Given the description of an element on the screen output the (x, y) to click on. 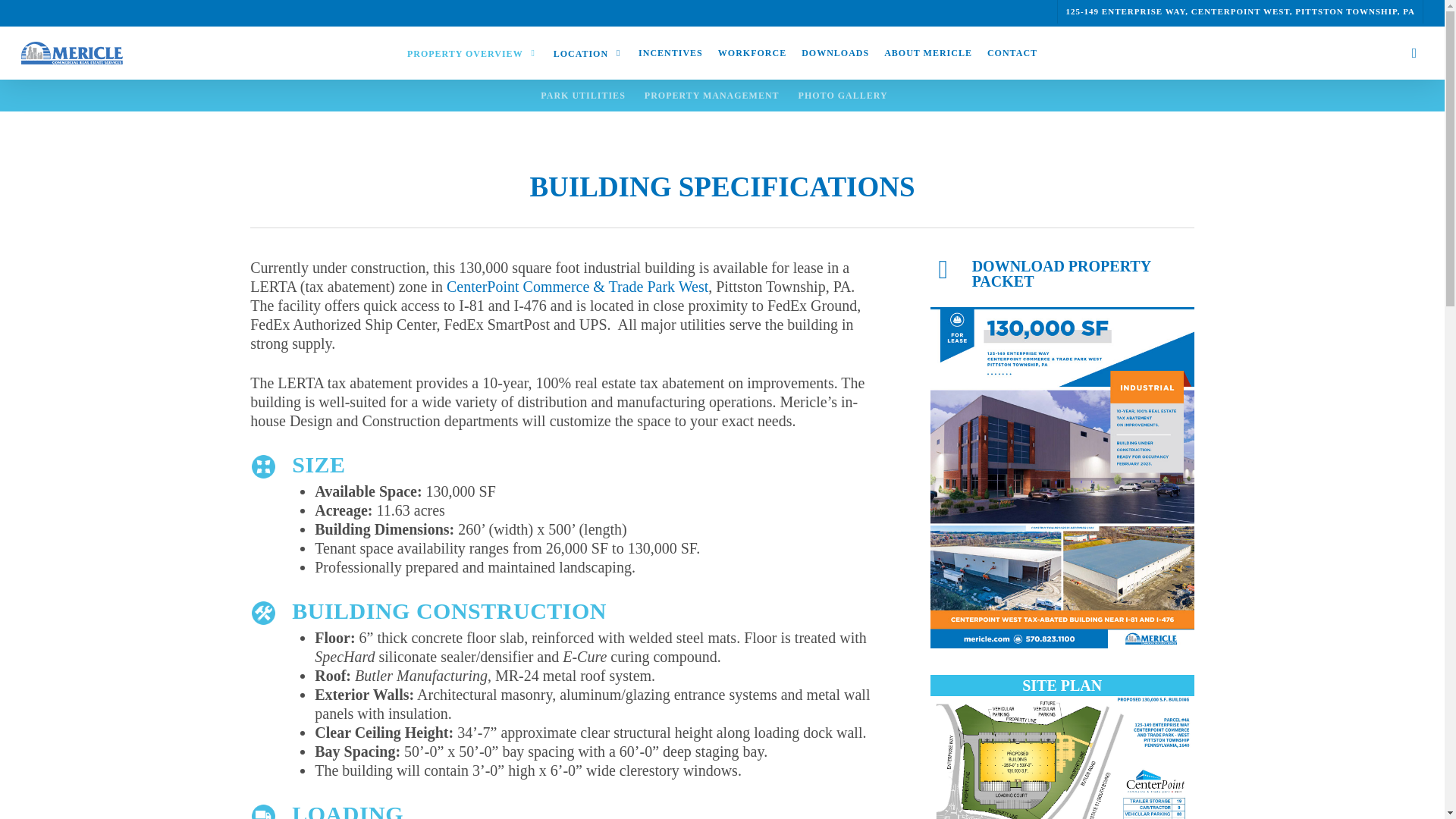
LOCATION (588, 53)
DOWNLOADS (834, 52)
ABOUT MERICLE (927, 52)
PROPERTY MANAGEMENT (711, 95)
Home (268, 39)
PHOTO GALLERY (842, 95)
search (1414, 52)
WORKFORCE (751, 52)
INCENTIVES (670, 52)
DOWNLOAD PROPERTY PACKET (1061, 273)
PARK UTILITIES (582, 95)
PROPERTY OVERVIEW (472, 53)
CONTACT (1012, 52)
